Given the description of an element on the screen output the (x, y) to click on. 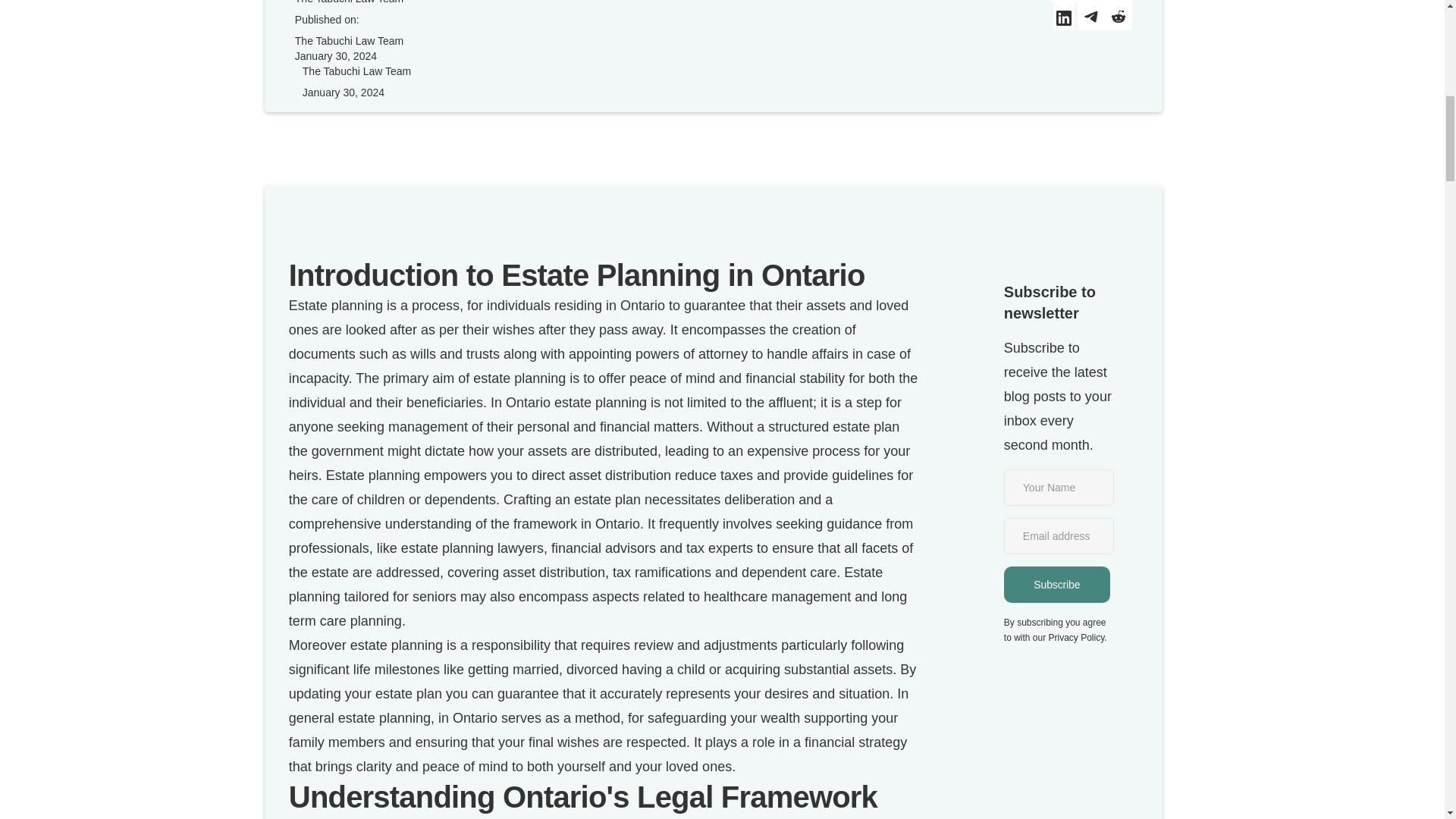
Privacy Policy. (1077, 637)
LinkedIn icon (1064, 19)
Twitter icon (1063, 1)
Facebook icon (1091, 1)
Subscribe (1056, 584)
Subscribe (1056, 584)
LinkedIn icon (1063, 16)
